Given the description of an element on the screen output the (x, y) to click on. 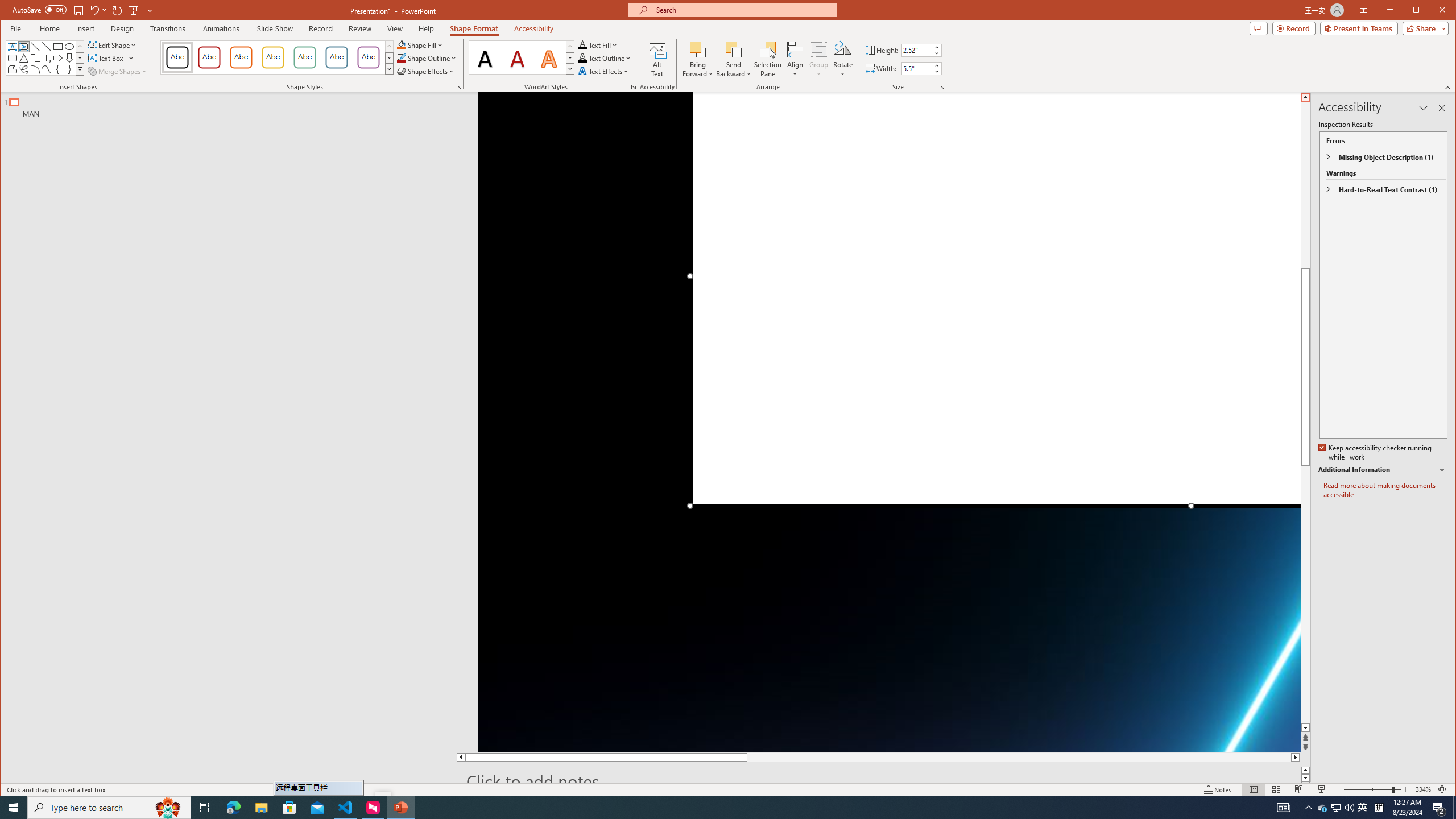
Merge Shapes (118, 70)
Text Outline (604, 57)
Fill: Dark Red, Accent color 1; Shadow (517, 57)
AutomationID: ShapeStylesGallery (277, 57)
Colored Outline - Gold, Accent 3 (272, 57)
Maximize (1432, 11)
Edit Shape (112, 44)
